Given the description of an element on the screen output the (x, y) to click on. 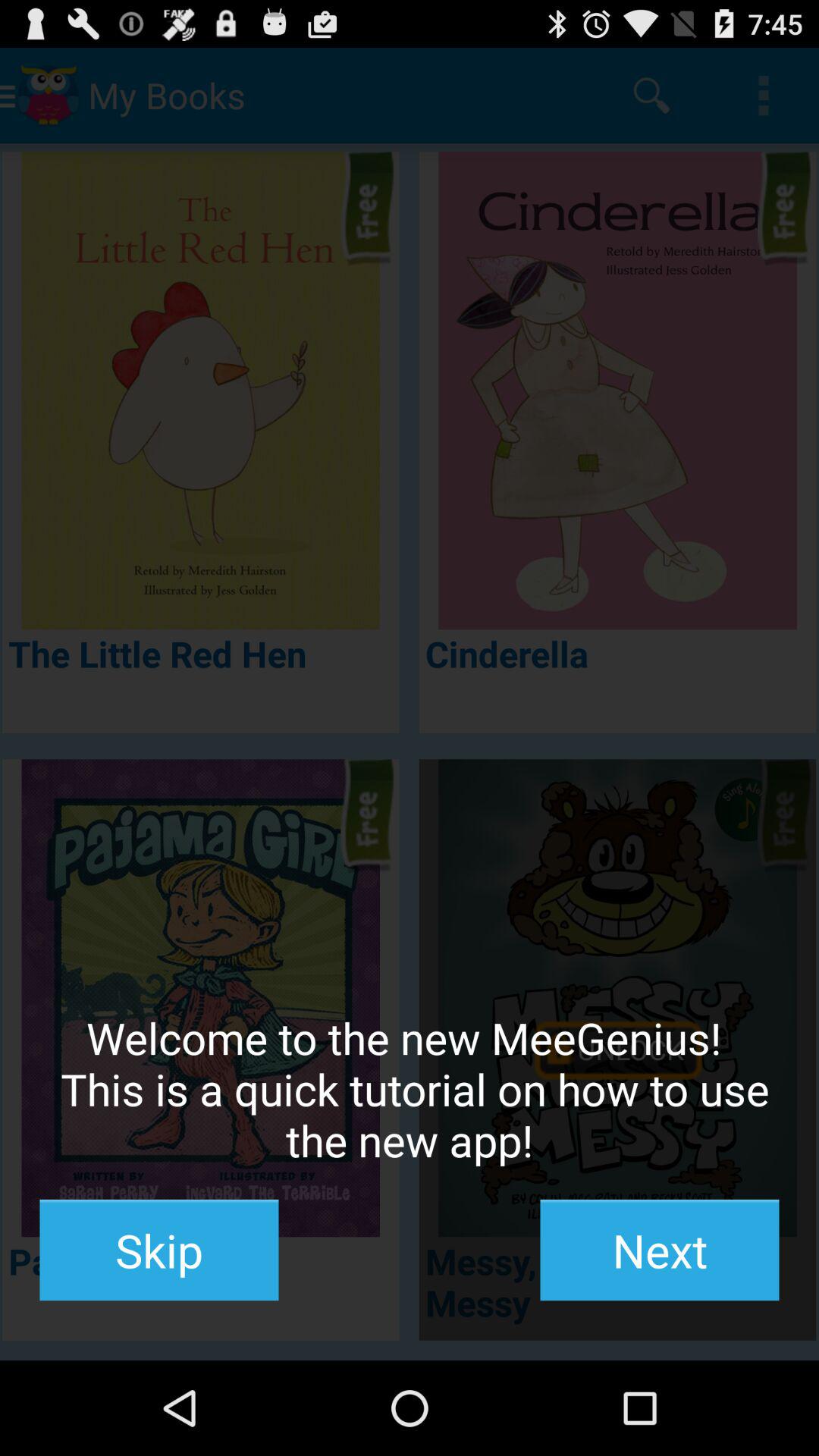
choose the button to the right of the skip (659, 1249)
